Given the description of an element on the screen output the (x, y) to click on. 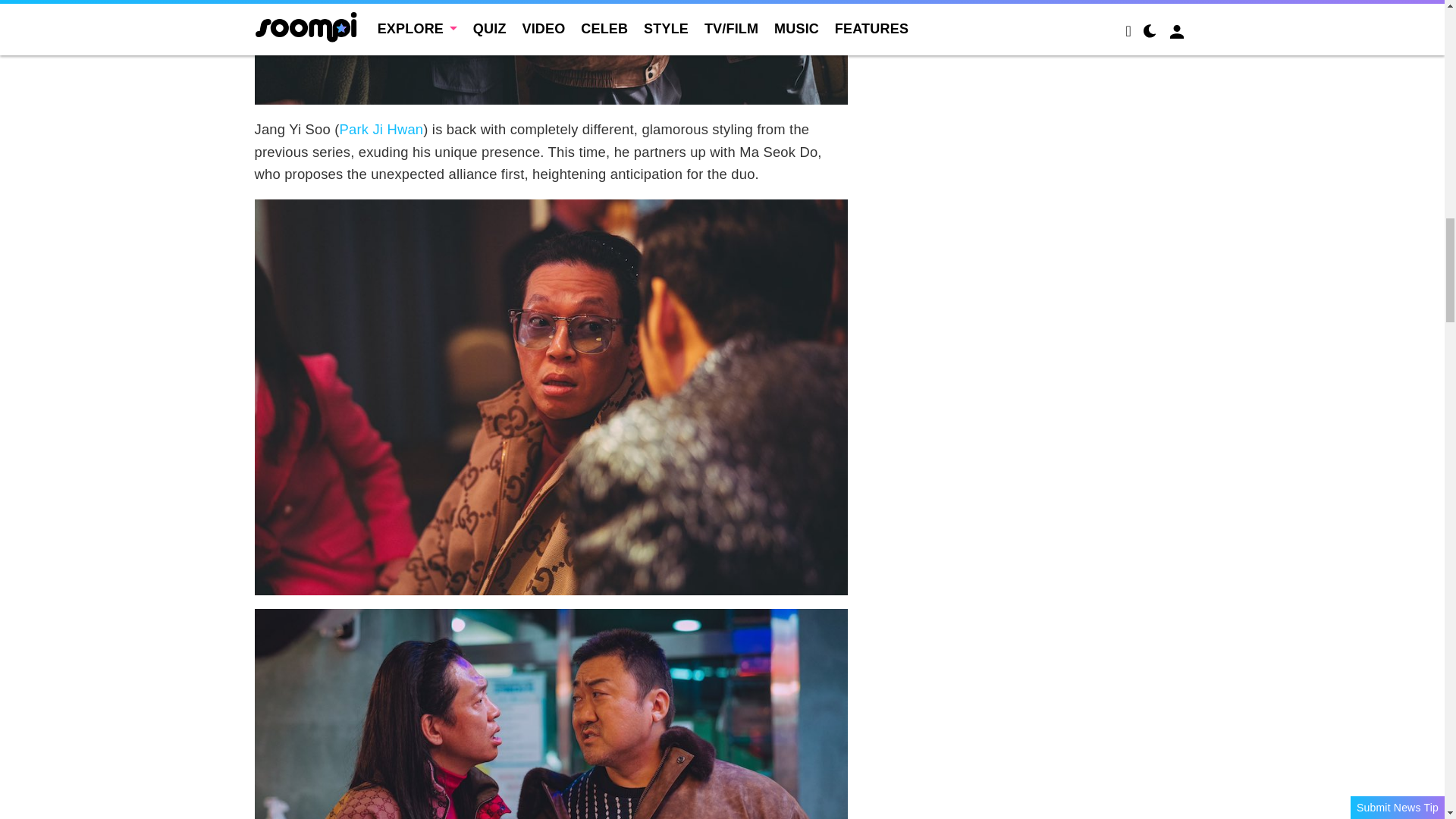
Park Ji Hwan (381, 129)
